Given the description of an element on the screen output the (x, y) to click on. 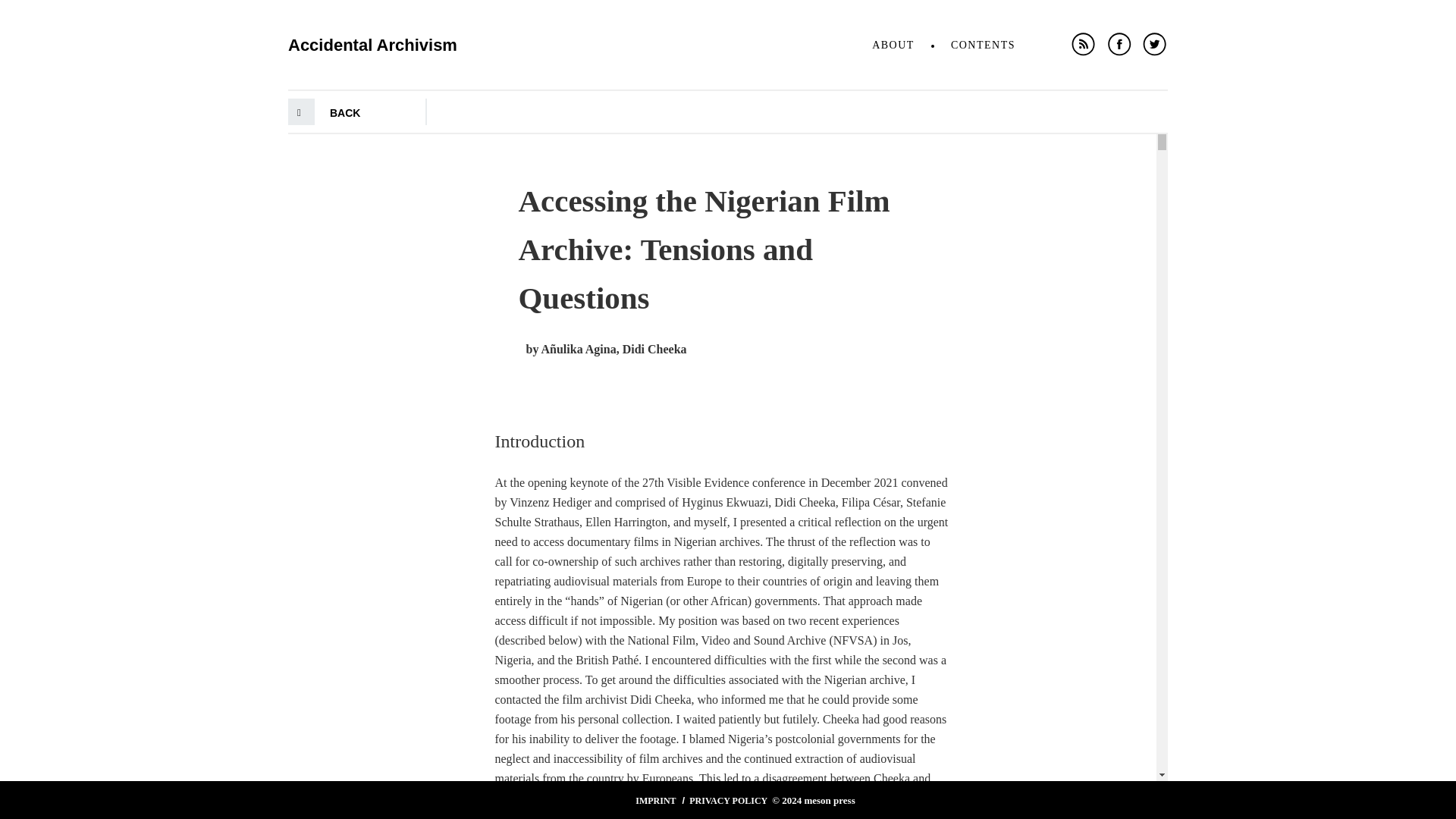
IMPRINT (654, 800)
Accidental Archivism (372, 36)
BACK (344, 112)
ABOUT (893, 45)
PRIVACY POLICY (727, 800)
CONTENTS (982, 45)
